Given the description of an element on the screen output the (x, y) to click on. 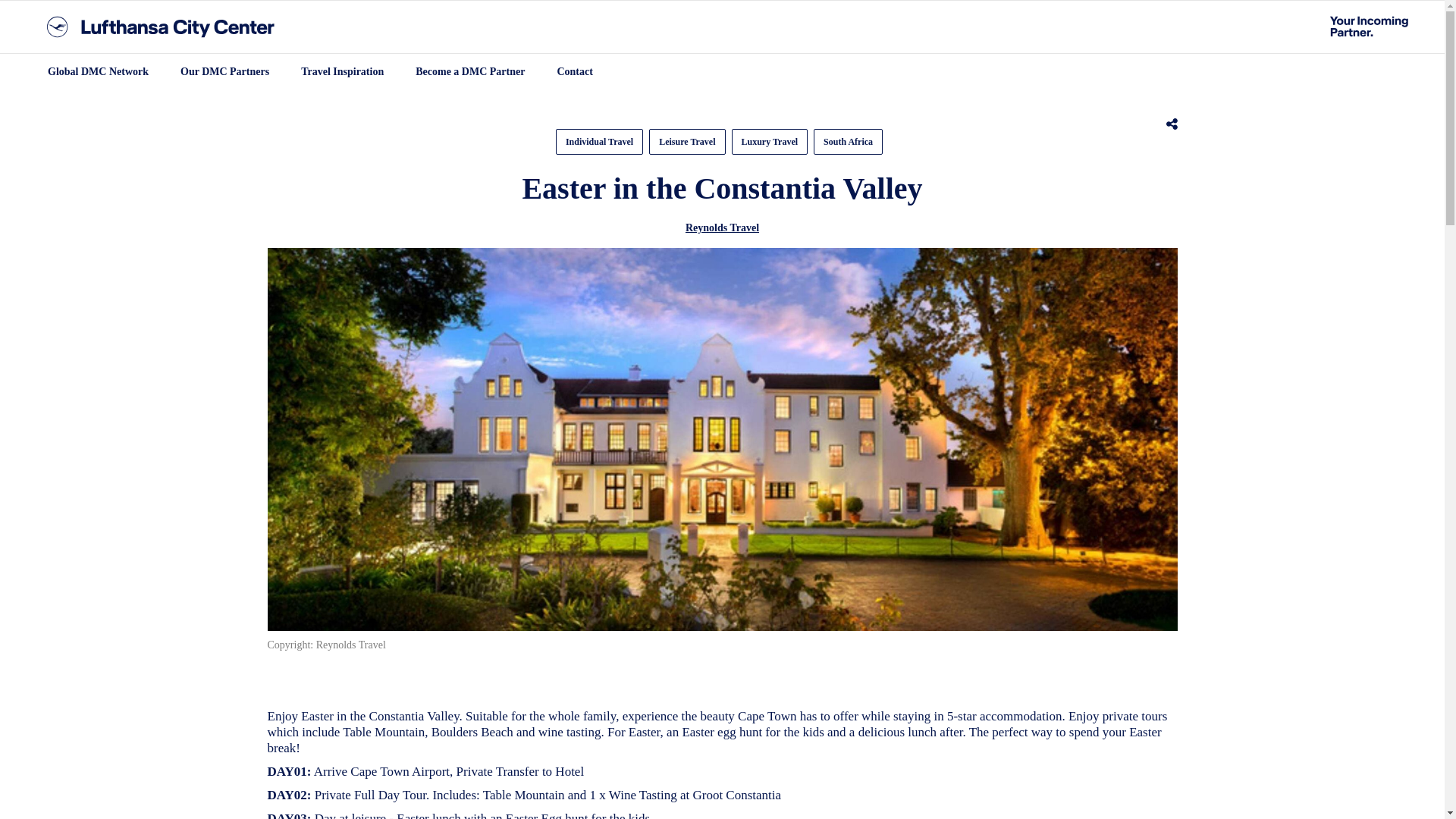
Individual Travel (599, 141)
Global DMC Network (98, 71)
Travel Inspiration (341, 71)
Our DMC Partners (224, 71)
Luxury Travel (769, 141)
Leisure Travel (687, 141)
South Africa (847, 141)
